Given the description of an element on the screen output the (x, y) to click on. 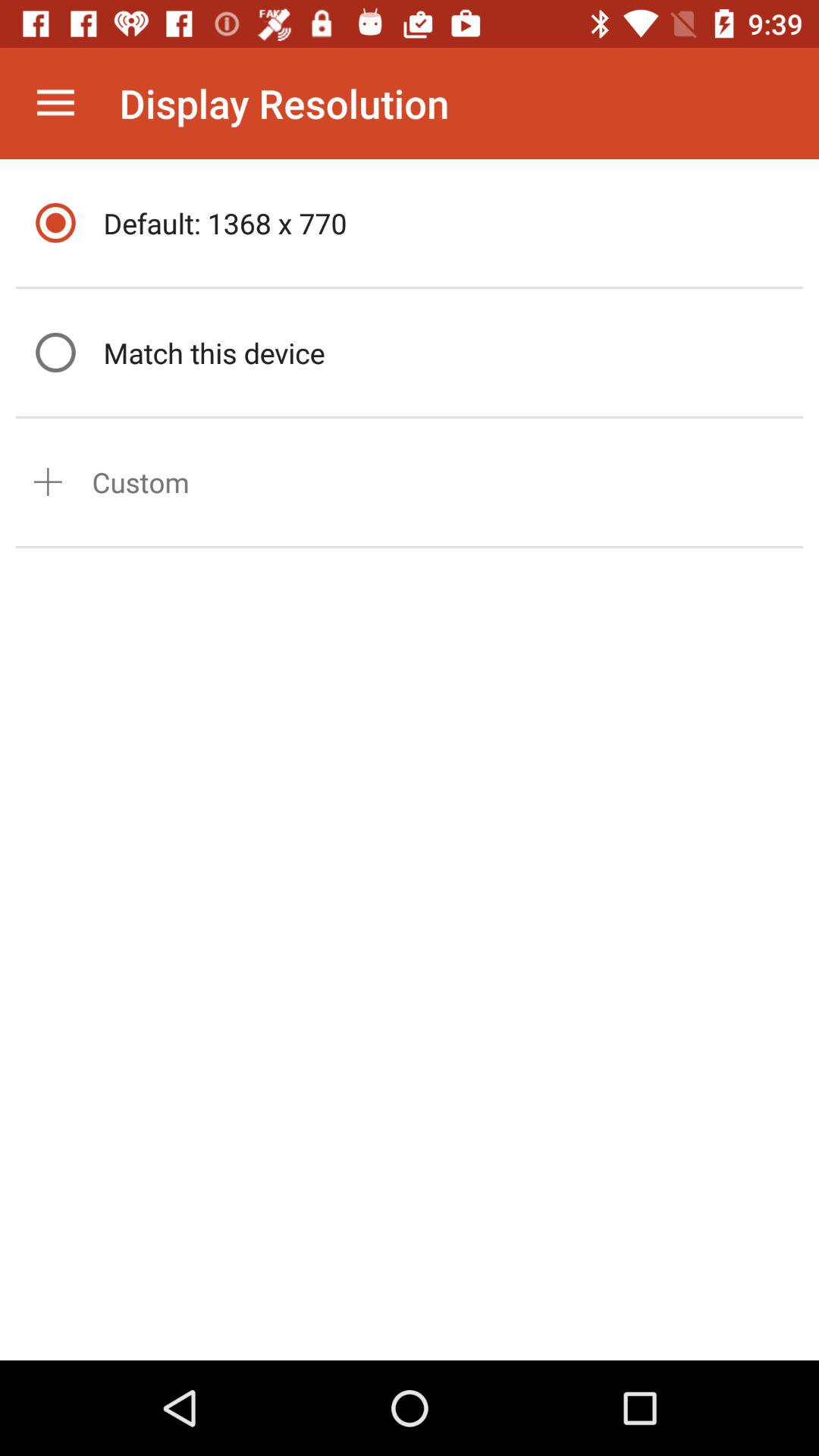
choose the item to the left of the display resolution (55, 103)
